Given the description of an element on the screen output the (x, y) to click on. 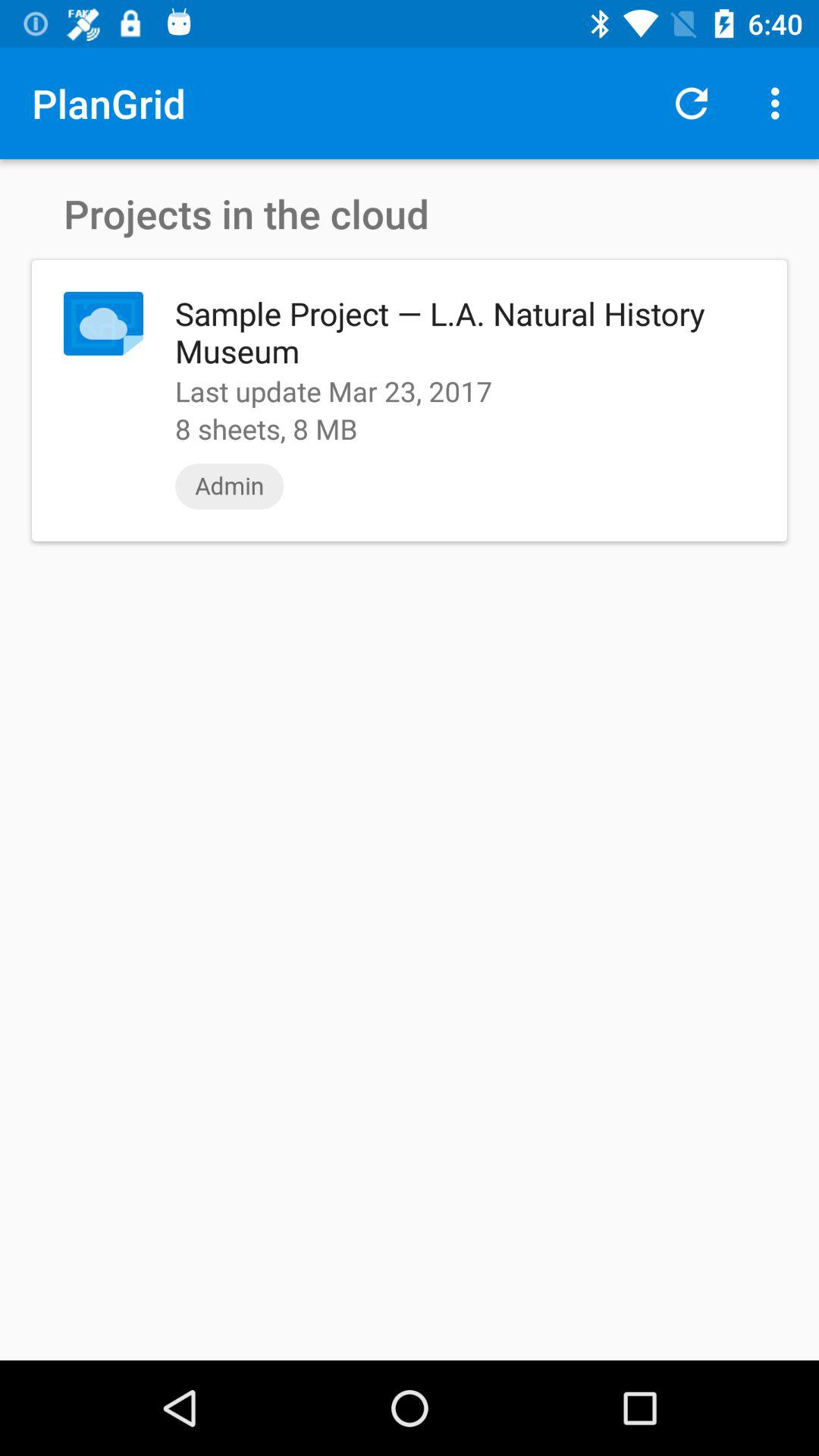
launch item above sample project l icon (691, 103)
